Given the description of an element on the screen output the (x, y) to click on. 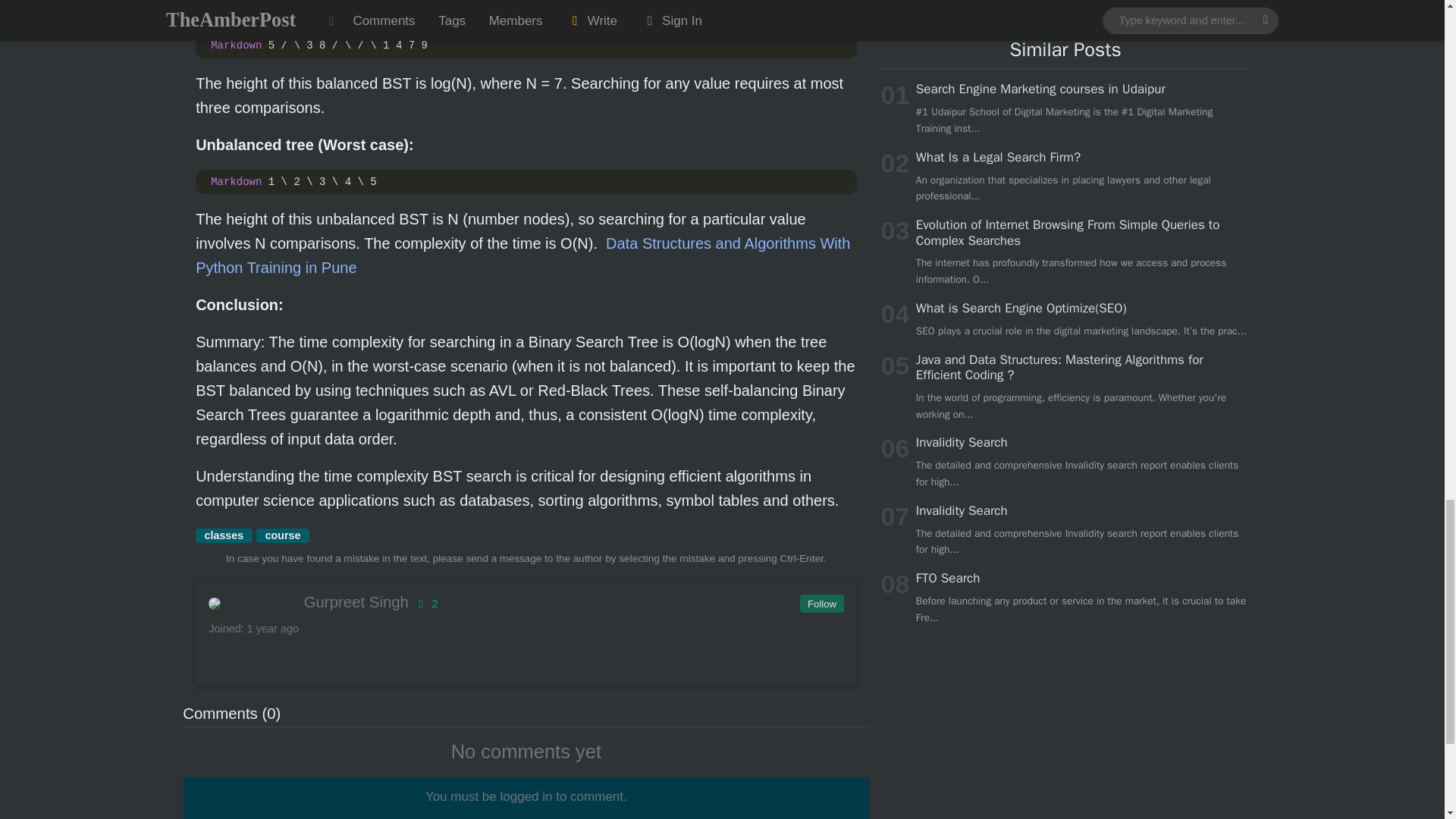
classes (223, 535)
classes (223, 535)
Sign In (525, 813)
Data Structures and Algorithms With Python Training in Pune (522, 255)
Rating (425, 603)
Gurpreet Singh 2 (525, 601)
www.sevenmentor.com (522, 255)
Follow (821, 603)
course (282, 535)
course (282, 535)
